Given the description of an element on the screen output the (x, y) to click on. 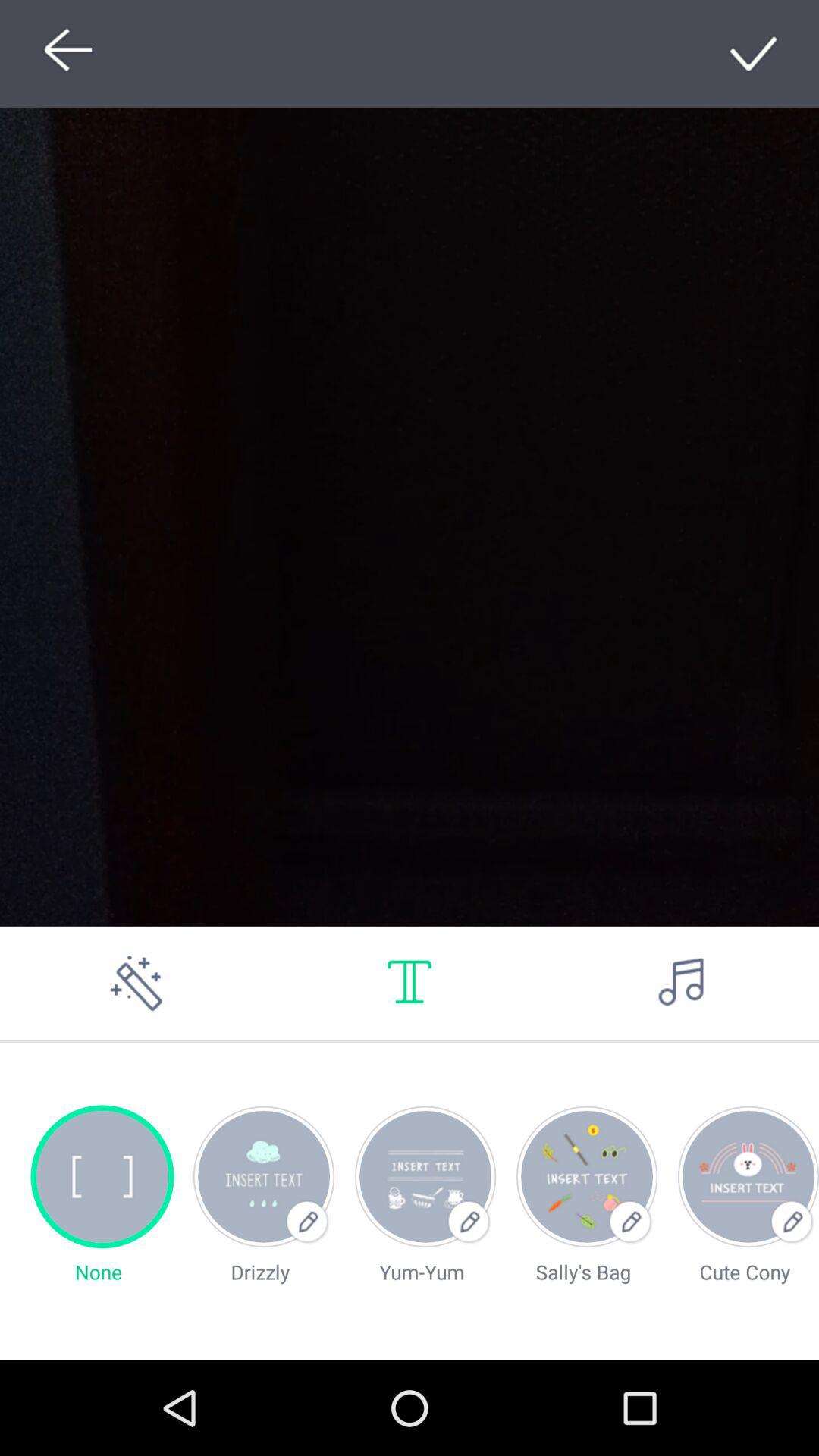
add effect option (136, 983)
